Given the description of an element on the screen output the (x, y) to click on. 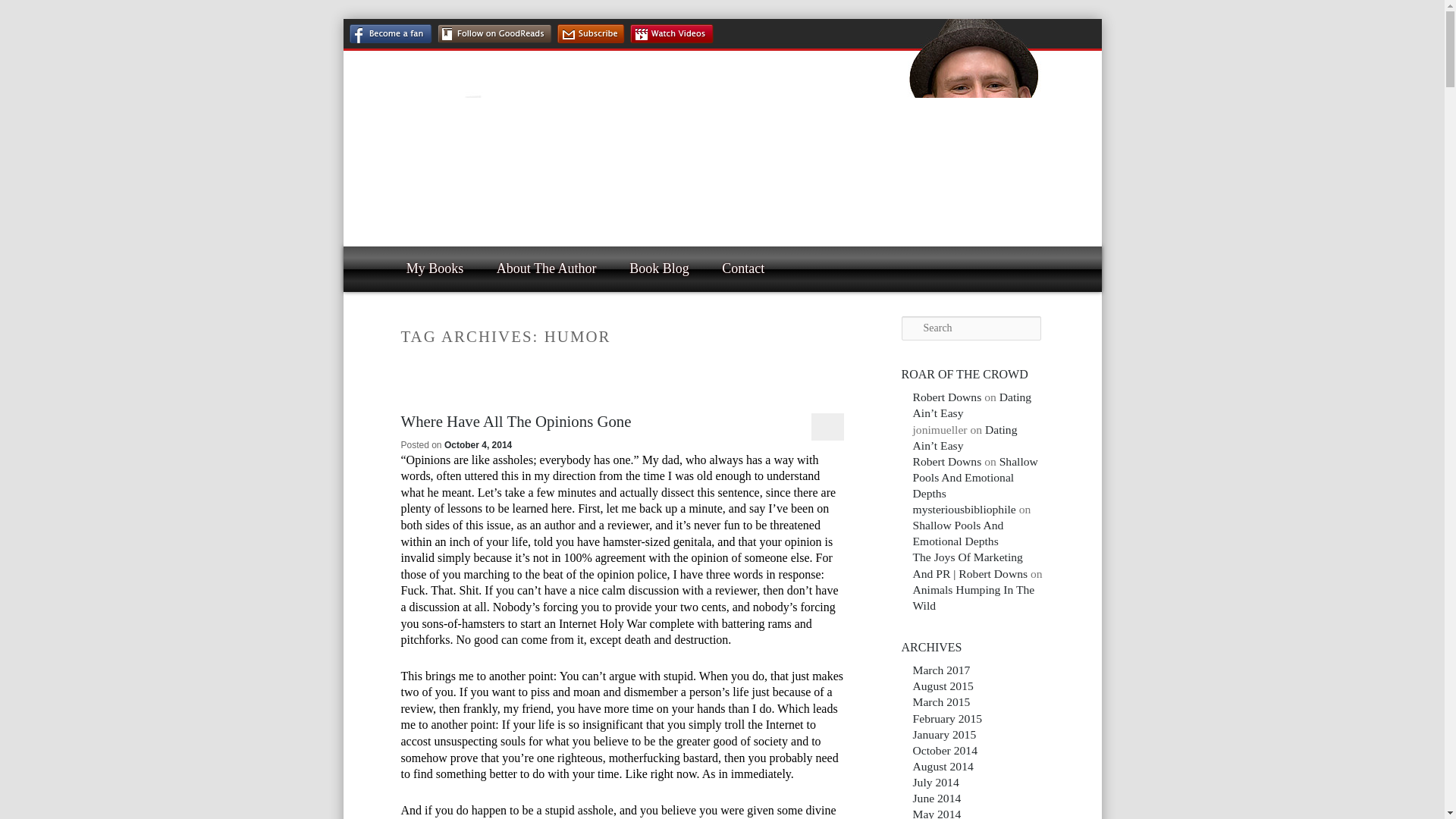
Contact (742, 268)
My Books (435, 268)
October 4, 2014 (478, 444)
Where Have All The Opinions Gone (515, 420)
Book Blog (658, 268)
About The Author (546, 268)
1:10 pm (478, 444)
